Given the description of an element on the screen output the (x, y) to click on. 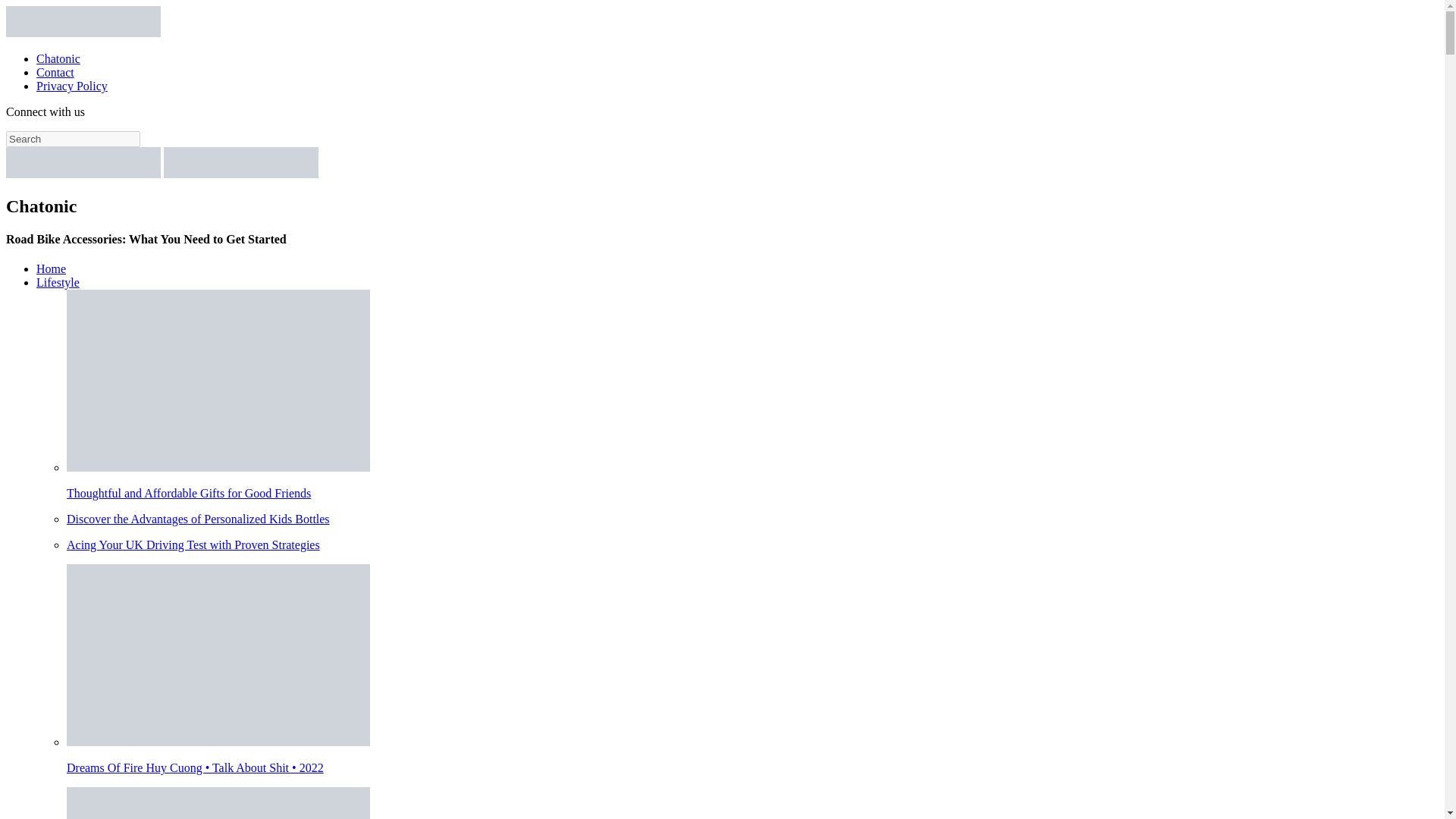
Home (50, 268)
46.285.653 ltda lauro de freitas 3 (217, 803)
Chatonic (58, 58)
Search (72, 139)
Lifestyle (58, 282)
Thoughtful and Affordable Gifts for Good Friends 1 (217, 380)
Contact (55, 72)
Privacy Policy (71, 85)
